Given the description of an element on the screen output the (x, y) to click on. 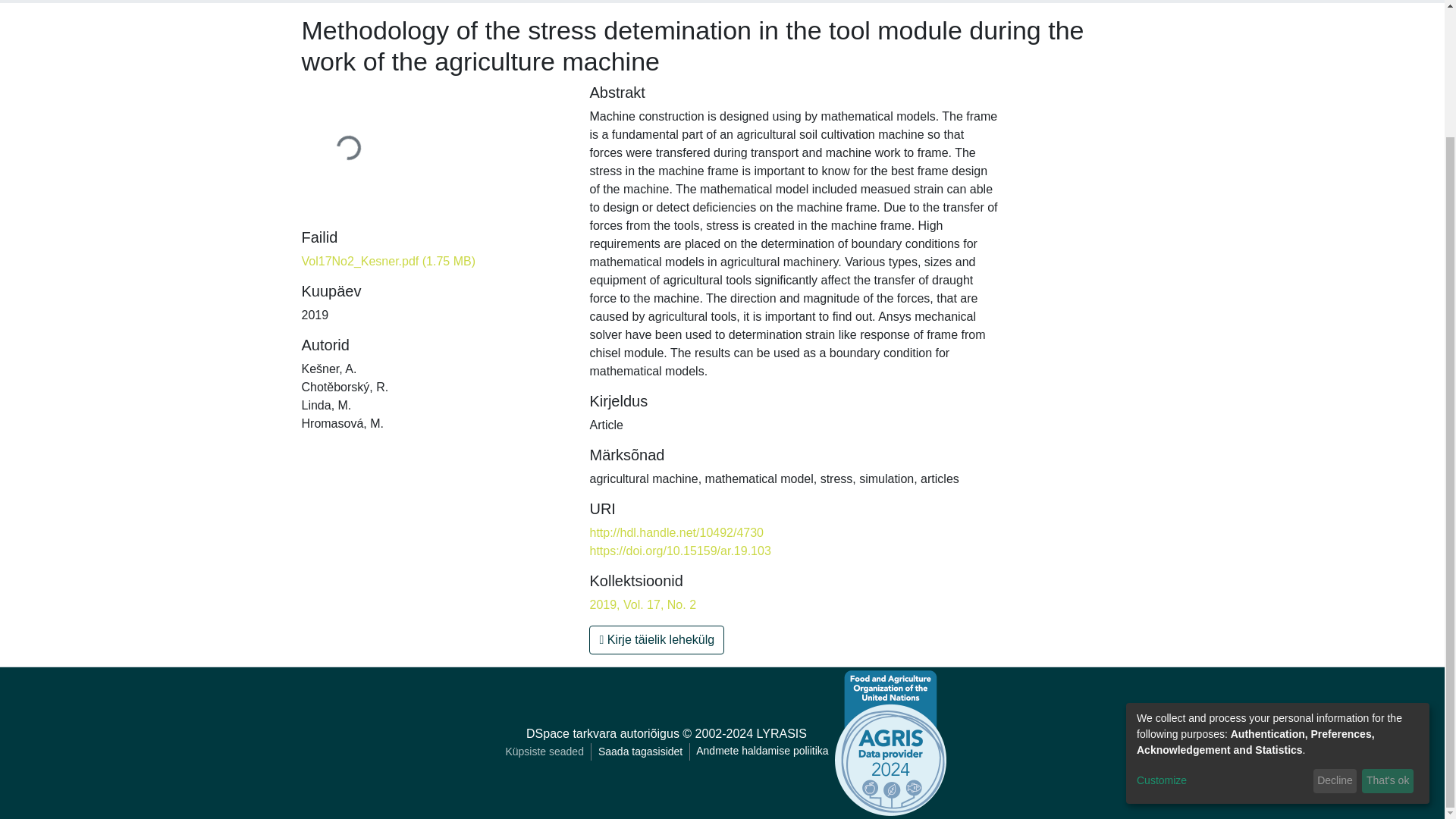
Saada tagasisidet (639, 751)
That's ok (1387, 627)
2019, Vol. 17, No. 2 (642, 604)
Customize (1222, 626)
Andmete haldamise poliitika (762, 751)
DSpace tarkvara (570, 733)
Decline (1334, 627)
LYRASIS (781, 733)
